Given the description of an element on the screen output the (x, y) to click on. 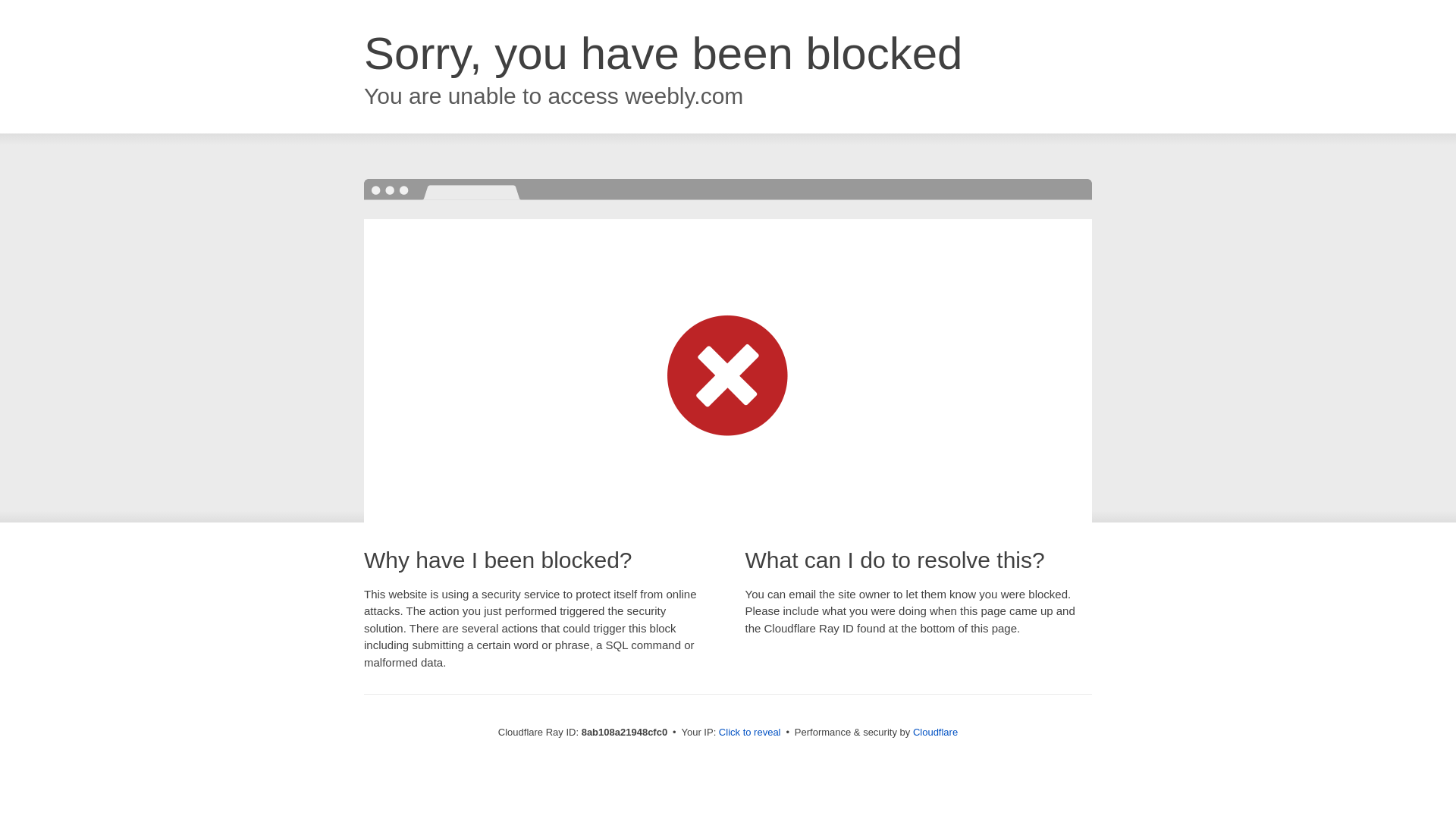
Click to reveal (749, 732)
Cloudflare (935, 731)
